Given the description of an element on the screen output the (x, y) to click on. 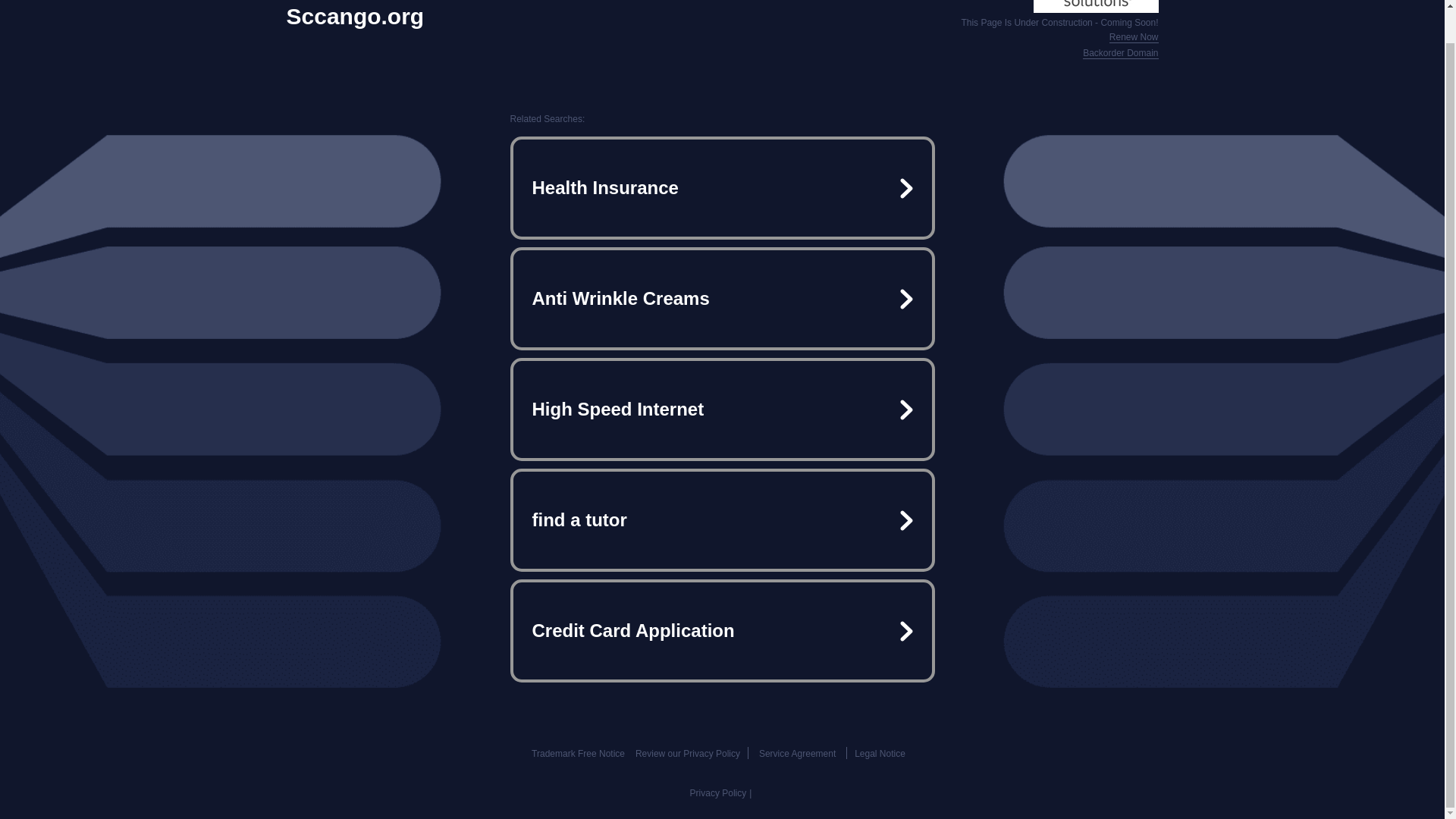
Credit Card Application (721, 630)
Service Agreement (796, 753)
Health Insurance (721, 187)
Backorder Domain (1120, 52)
Privacy Policy (718, 792)
Renew Now (1133, 37)
Sccango.org (355, 16)
High Speed Internet (721, 409)
Trademark Free Notice (577, 753)
Anti Wrinkle Creams (721, 298)
Review our Privacy Policy (686, 753)
Credit Card Application (721, 630)
Legal Notice (879, 753)
High Speed Internet (721, 409)
find a tutor (721, 519)
